Given the description of an element on the screen output the (x, y) to click on. 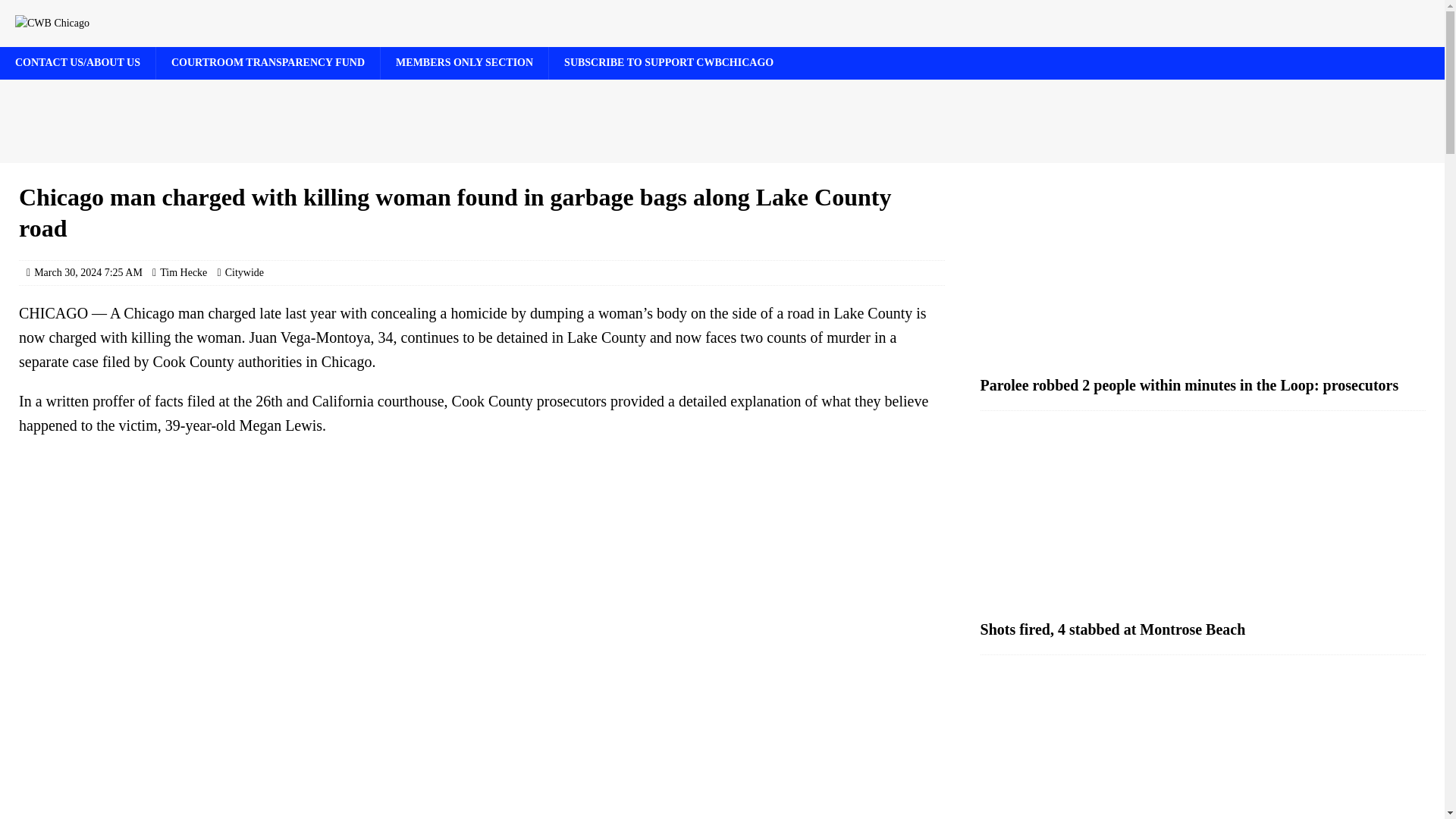
SUBSCRIBE TO SUPPORT CWBCHICAGO (668, 62)
MEMBERS ONLY SECTION (464, 62)
Citywide (244, 272)
Shots fired, 4 stabbed at Montrose Beach (1202, 518)
Shots fired, 4 stabbed at Montrose Beach (1112, 629)
Woman slashed at Jackson Blue Line, suspect in custody (1202, 744)
Shots fired, 4 stabbed at Montrose Beach (1112, 629)
March 30, 2024 7:25 AM (87, 272)
COURTROOM TRANSPARENCY FUND (267, 62)
Tim Hecke (183, 272)
